Given the description of an element on the screen output the (x, y) to click on. 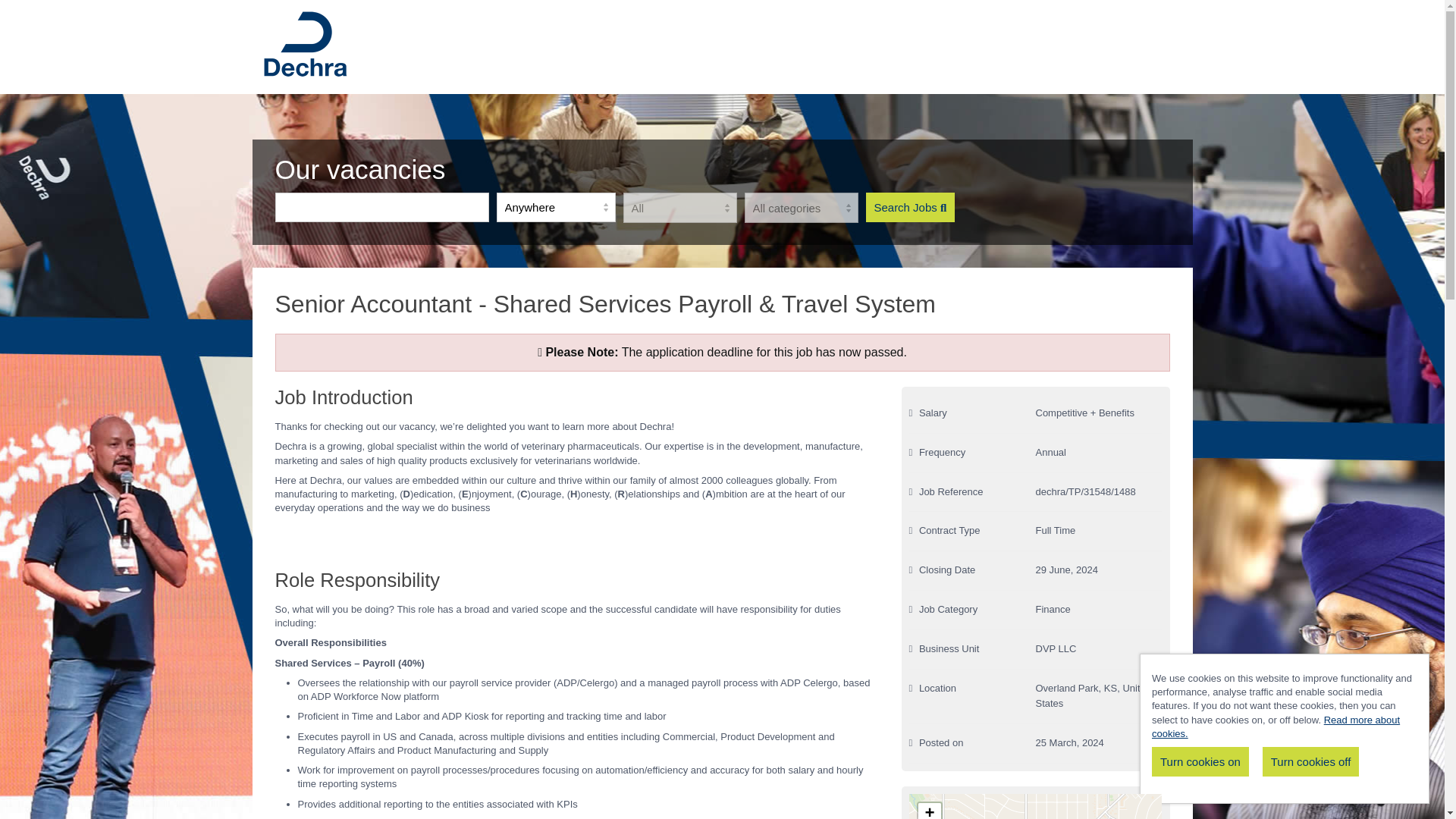
Read more about cookies. (1275, 726)
Anywhere (555, 206)
Turn cookies off (1310, 761)
Zoom in (929, 811)
Search Jobs (910, 206)
Turn cookies on (1200, 761)
